Given the description of an element on the screen output the (x, y) to click on. 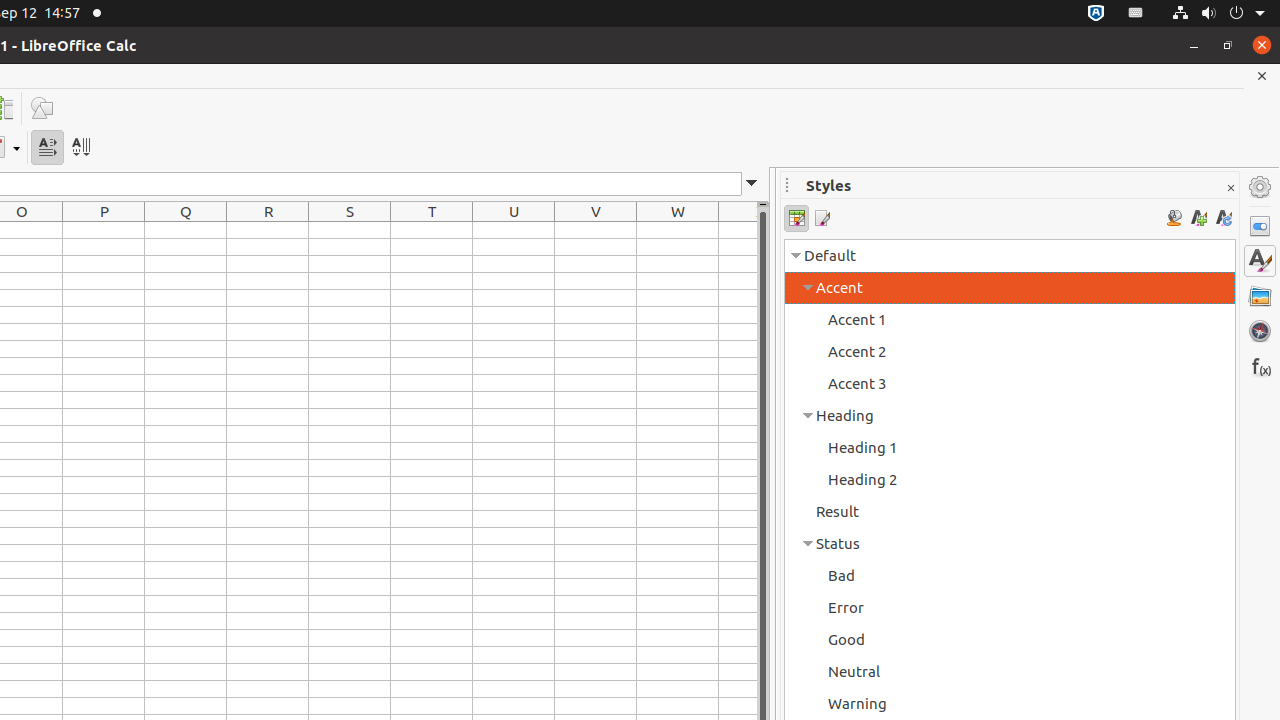
Close Sidebar Deck Element type: push-button (1230, 188)
Expand Formula Bar Element type: push-button (752, 183)
Draw Functions Element type: toggle-button (41, 108)
Functions Element type: radio-button (1260, 366)
Update Style Element type: push-button (1223, 218)
